Given the description of an element on the screen output the (x, y) to click on. 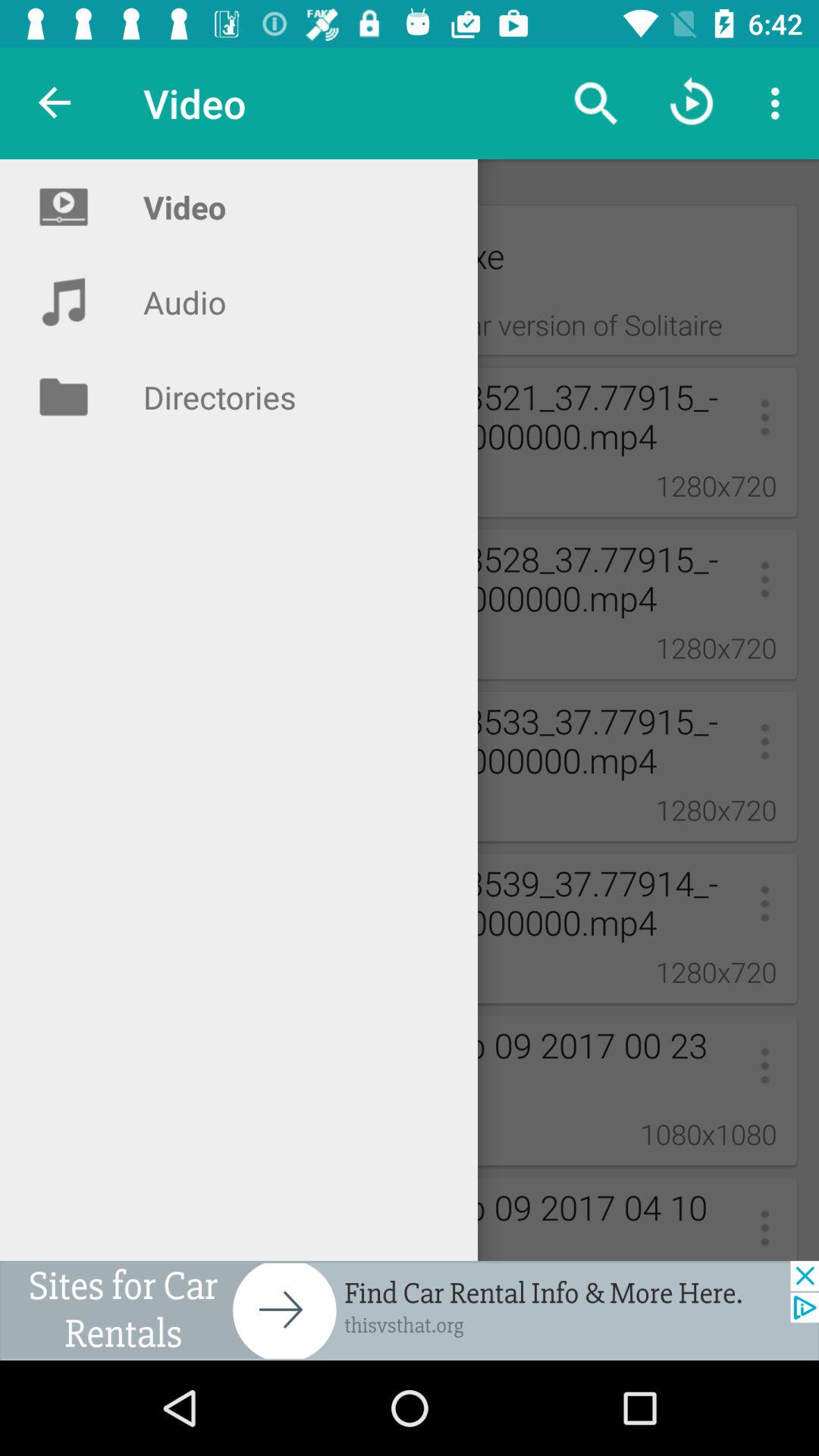
select the replay icon (691, 103)
select the search icon (595, 103)
